Given the description of an element on the screen output the (x, y) to click on. 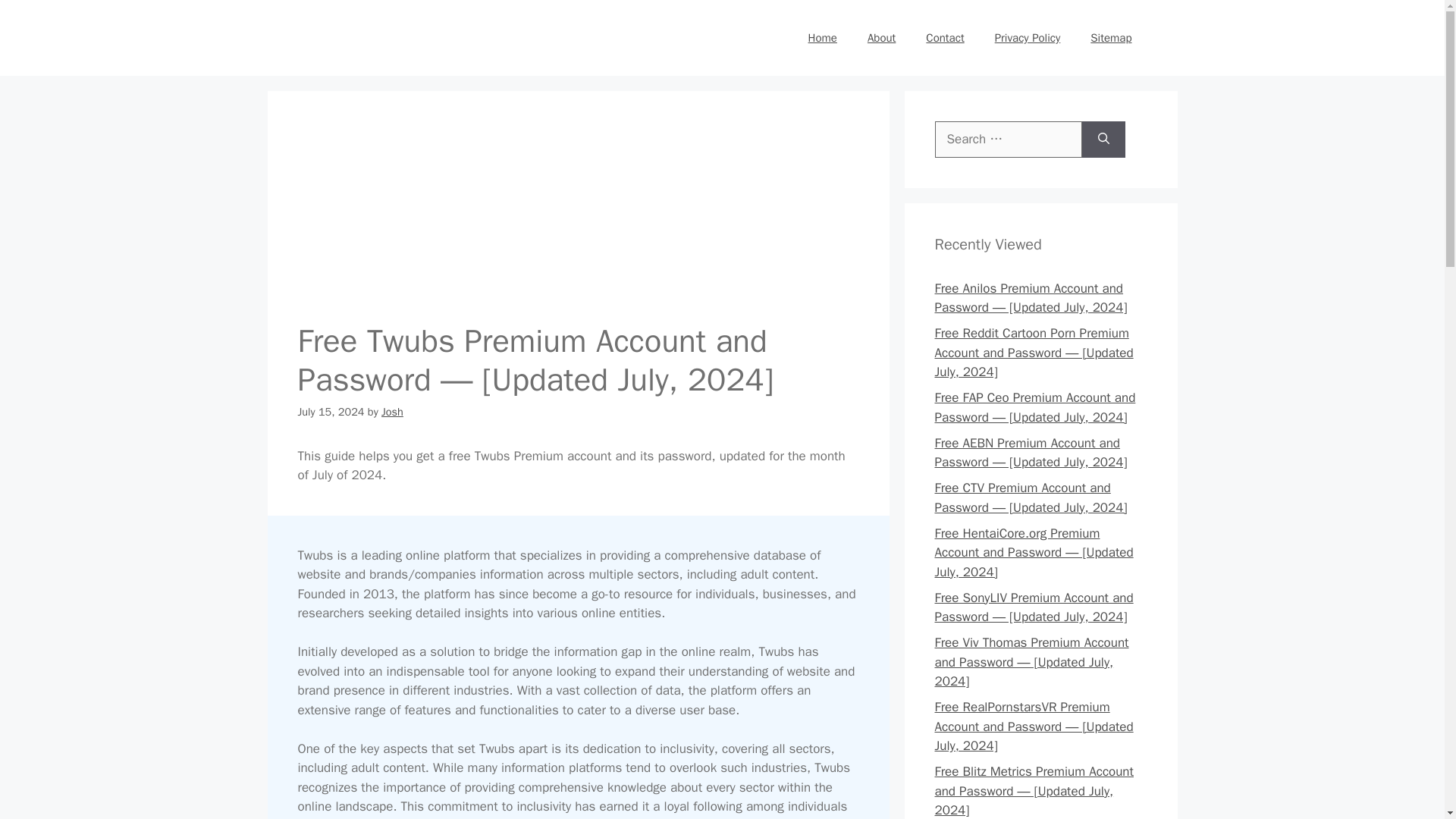
Search for: (1007, 139)
Free Twubs Premium Account and Password (578, 208)
Contact (944, 37)
View all posts by Josh (392, 411)
Home (822, 37)
Sitemap (1111, 37)
Josh (392, 411)
About (881, 37)
Privacy Policy (1027, 37)
Passworrrds (380, 36)
Passworrrds (380, 37)
